Given the description of an element on the screen output the (x, y) to click on. 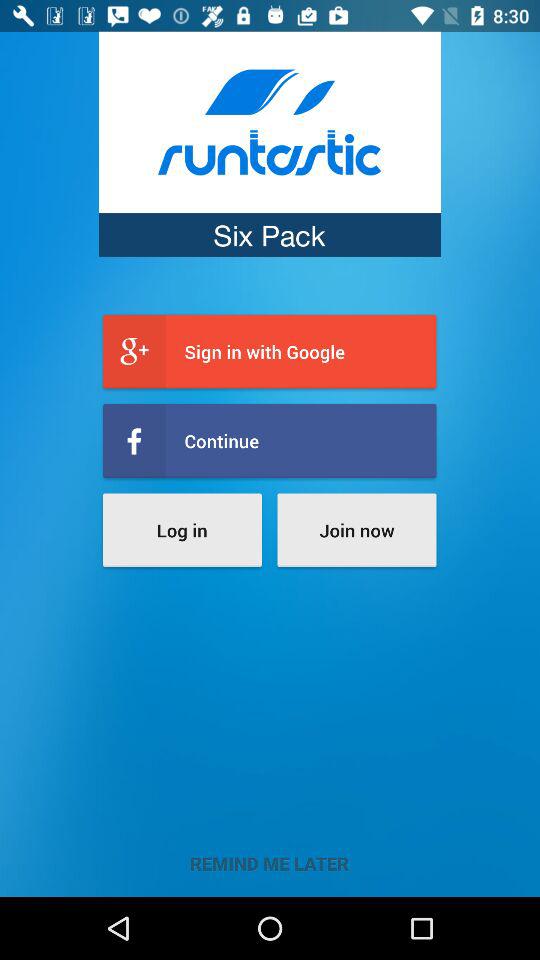
swipe to the join now icon (356, 529)
